Given the description of an element on the screen output the (x, y) to click on. 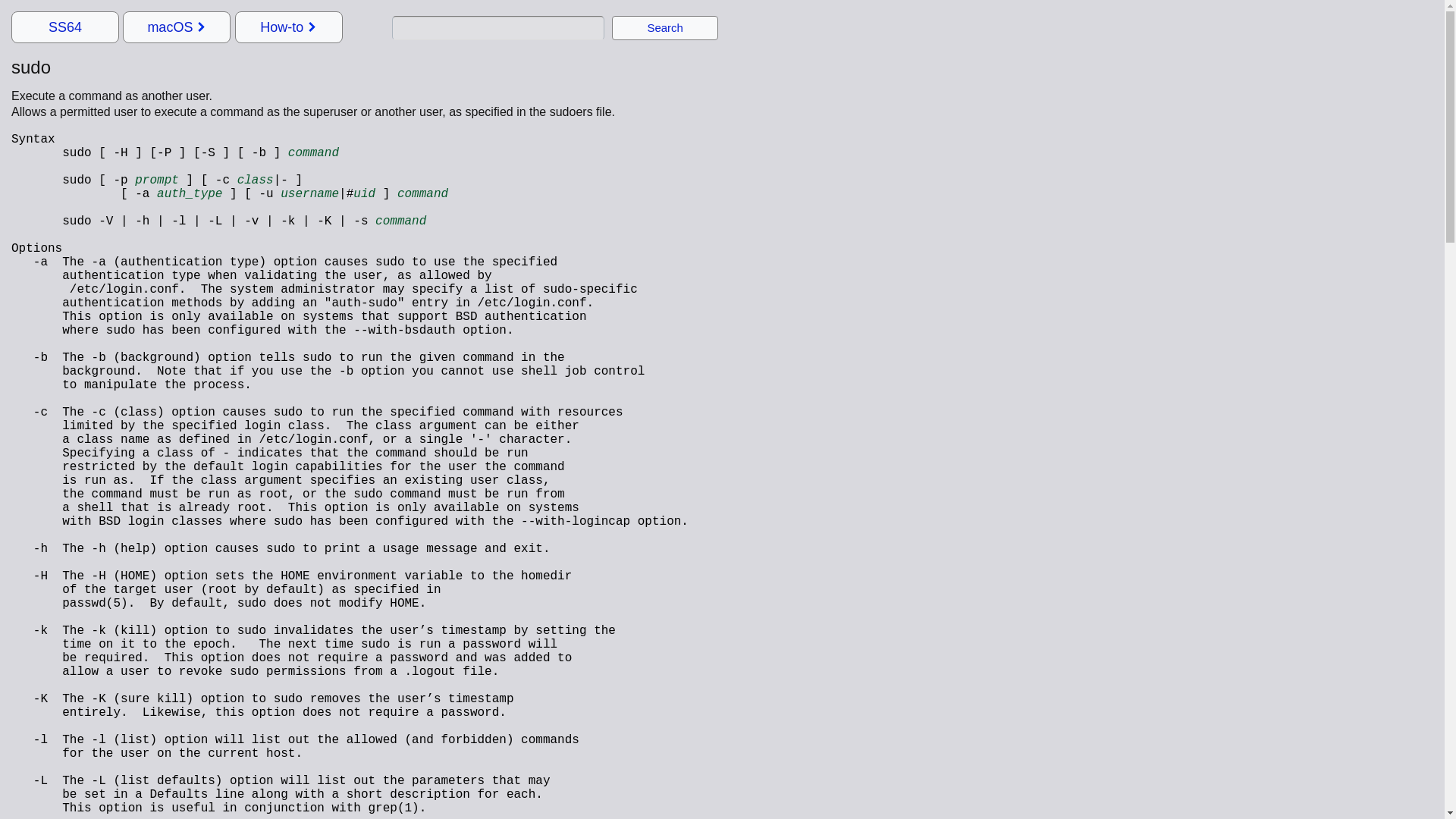
Search (664, 27)
SS64 (64, 27)
How-to (288, 27)
macOS (176, 27)
Search (664, 27)
